Given the description of an element on the screen output the (x, y) to click on. 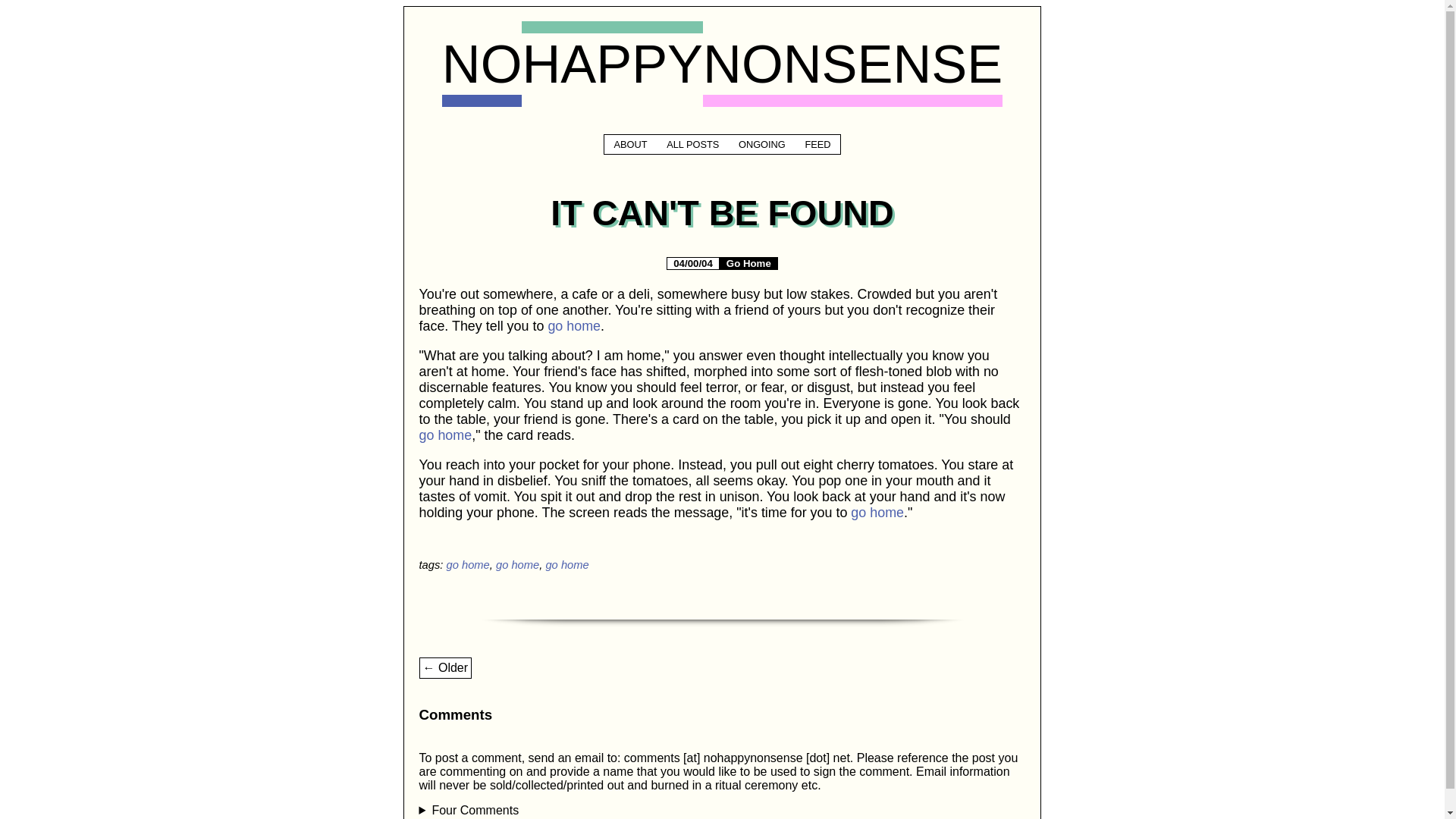
ALL POSTS (692, 144)
NO (482, 64)
go home (445, 435)
ONGOING (761, 144)
HAPPY (612, 64)
Go Home (748, 263)
go home (877, 512)
go home (573, 325)
go home (566, 564)
go home (467, 564)
go home (517, 564)
FEED (817, 144)
ABOUT (631, 144)
NONSENSE (853, 64)
